Given the description of an element on the screen output the (x, y) to click on. 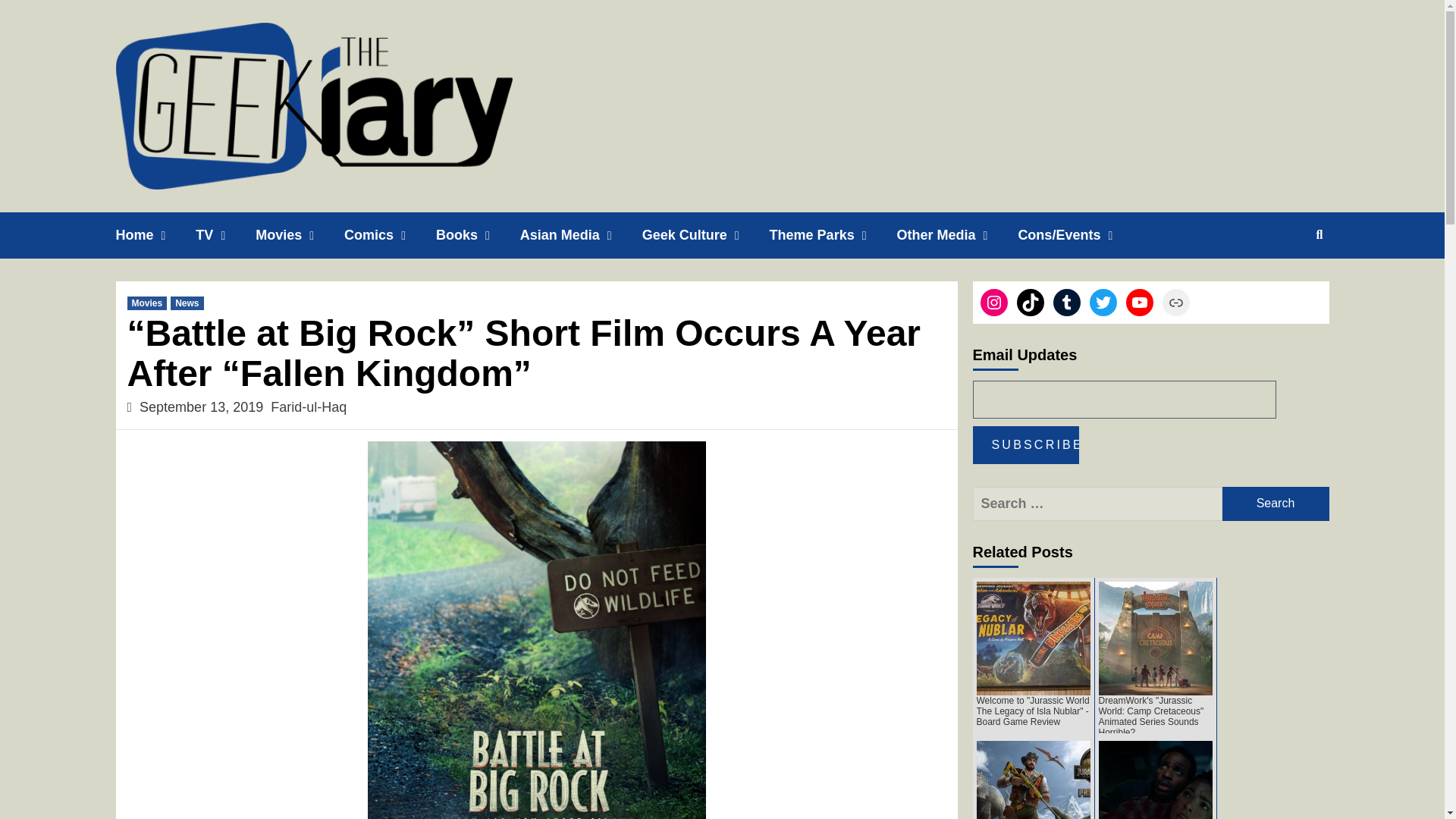
Home (155, 235)
TV (225, 235)
Movies (299, 235)
Subscribe (1025, 444)
Books (477, 235)
Comics (389, 235)
Search (1276, 503)
Asian Media (580, 235)
Geek Culture (706, 235)
Search (1276, 503)
